Given the description of an element on the screen output the (x, y) to click on. 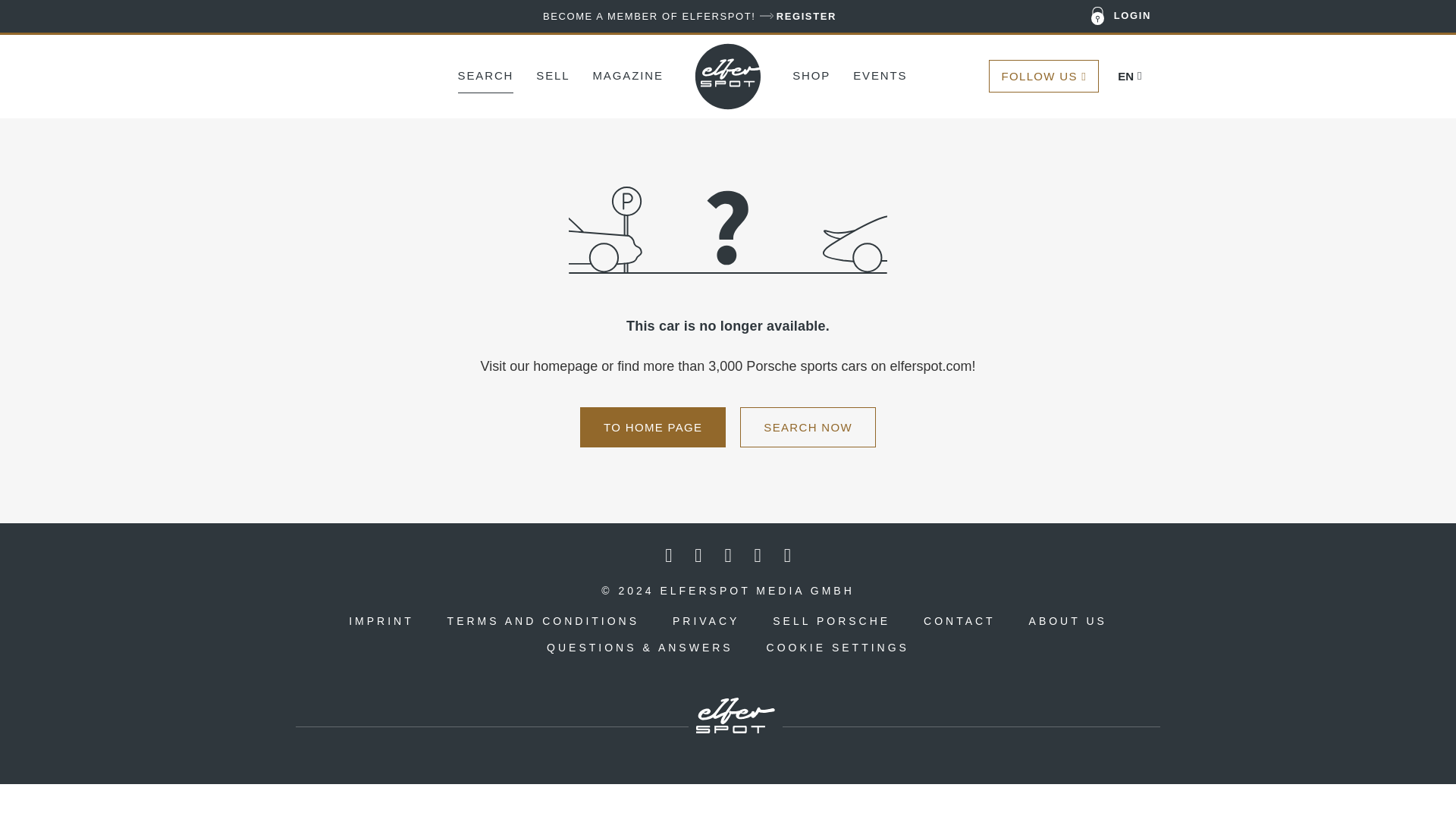
Events (880, 74)
SHOP (810, 74)
Follow us on facebook (667, 555)
Elferspot (727, 76)
Shop (810, 74)
Magazine (627, 74)
BECOME A MEMBER OF ELFERSPOT! REGISTER (689, 15)
SELL (552, 74)
Sell (552, 74)
SEARCH (485, 74)
Search (485, 74)
LOGIN (1121, 16)
EVENTS (880, 74)
MAGAZINE (627, 74)
